Given the description of an element on the screen output the (x, y) to click on. 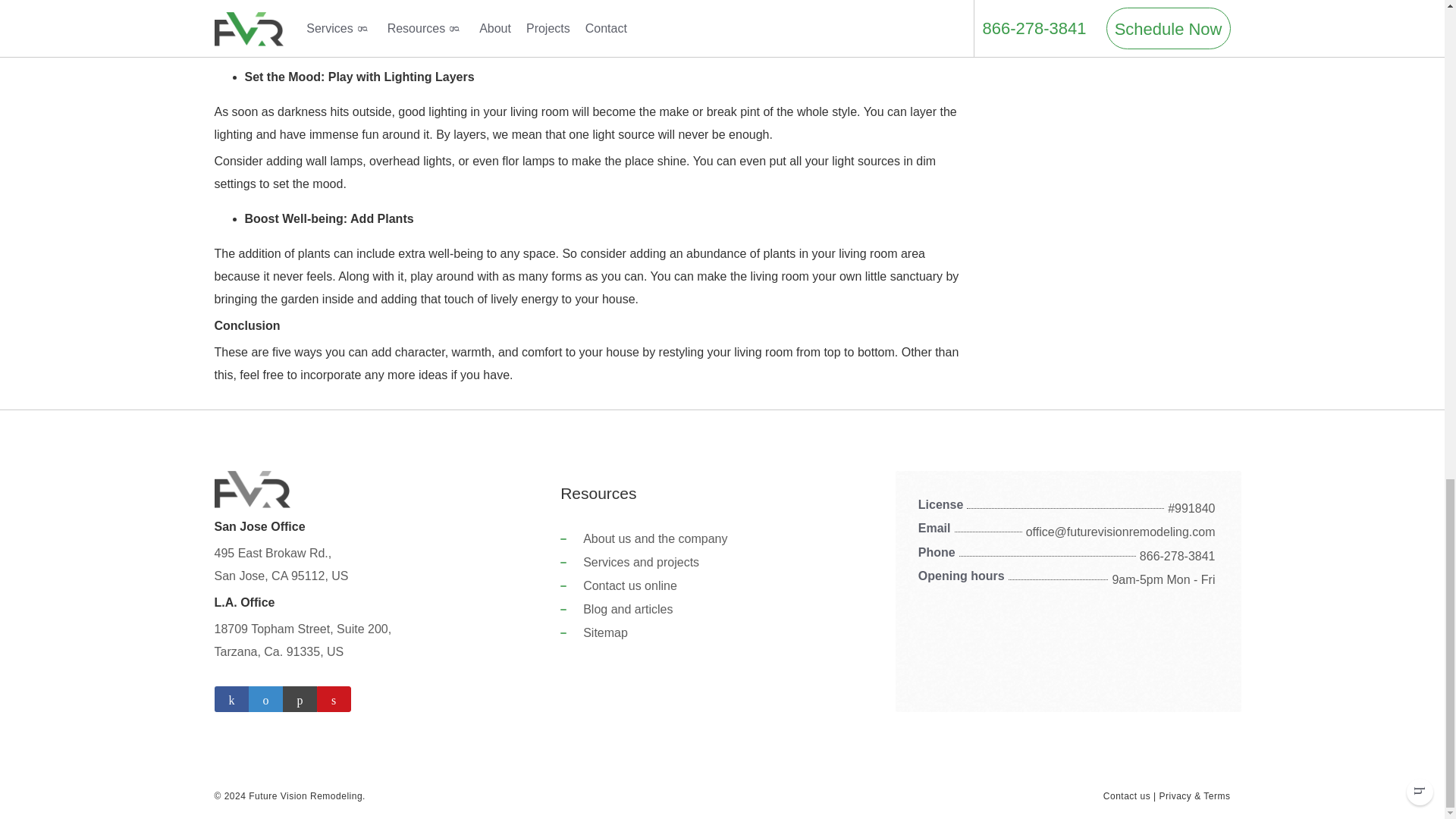
Services and projects (640, 562)
Contact us online (630, 585)
About us and the company (654, 538)
